Given the description of an element on the screen output the (x, y) to click on. 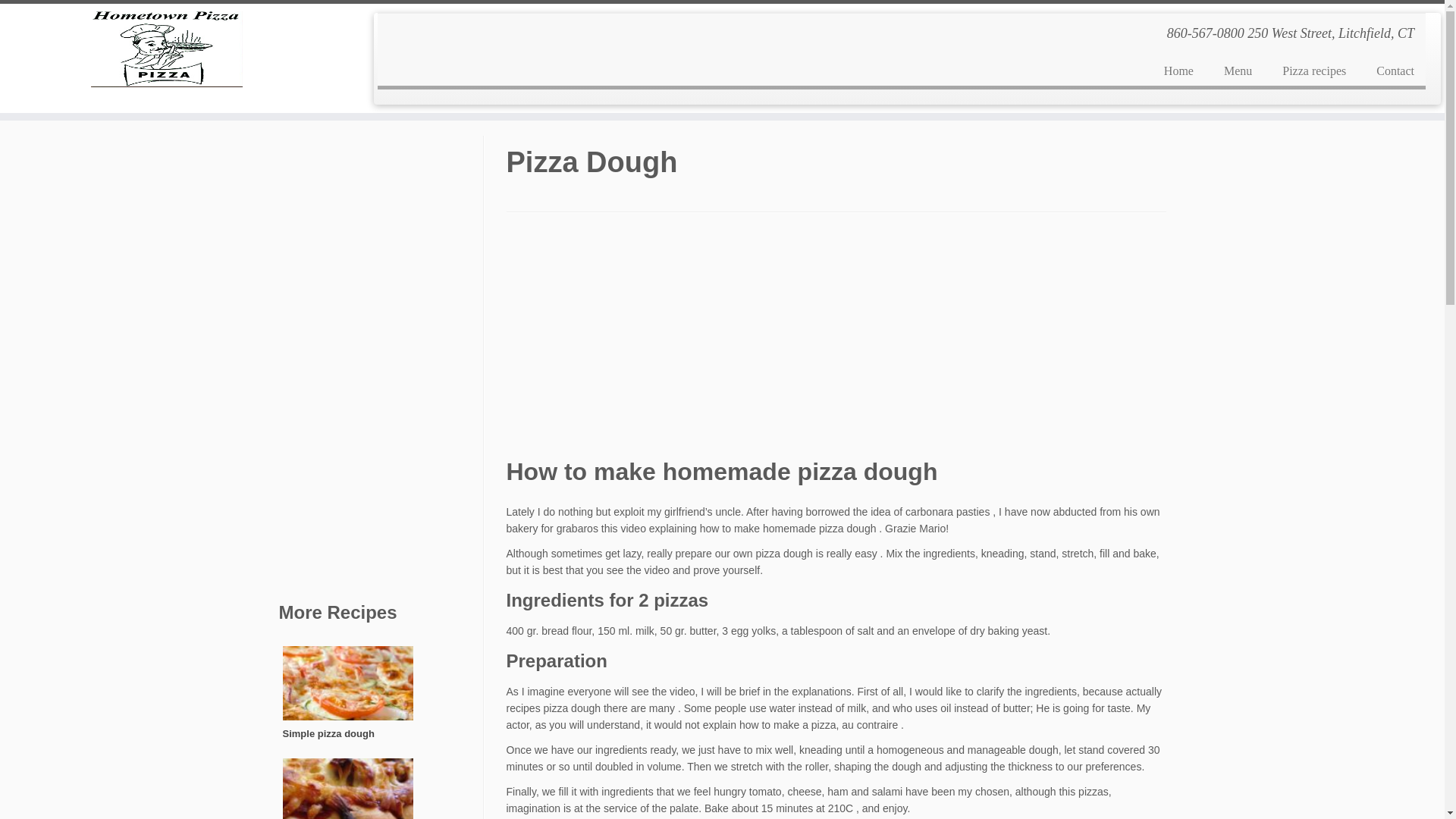
Pizza recipes (1313, 70)
Best pizza crust (347, 788)
Menu (1237, 70)
Contact (1387, 70)
Simple pizza dough (347, 698)
Home (1178, 70)
